Given the description of an element on the screen output the (x, y) to click on. 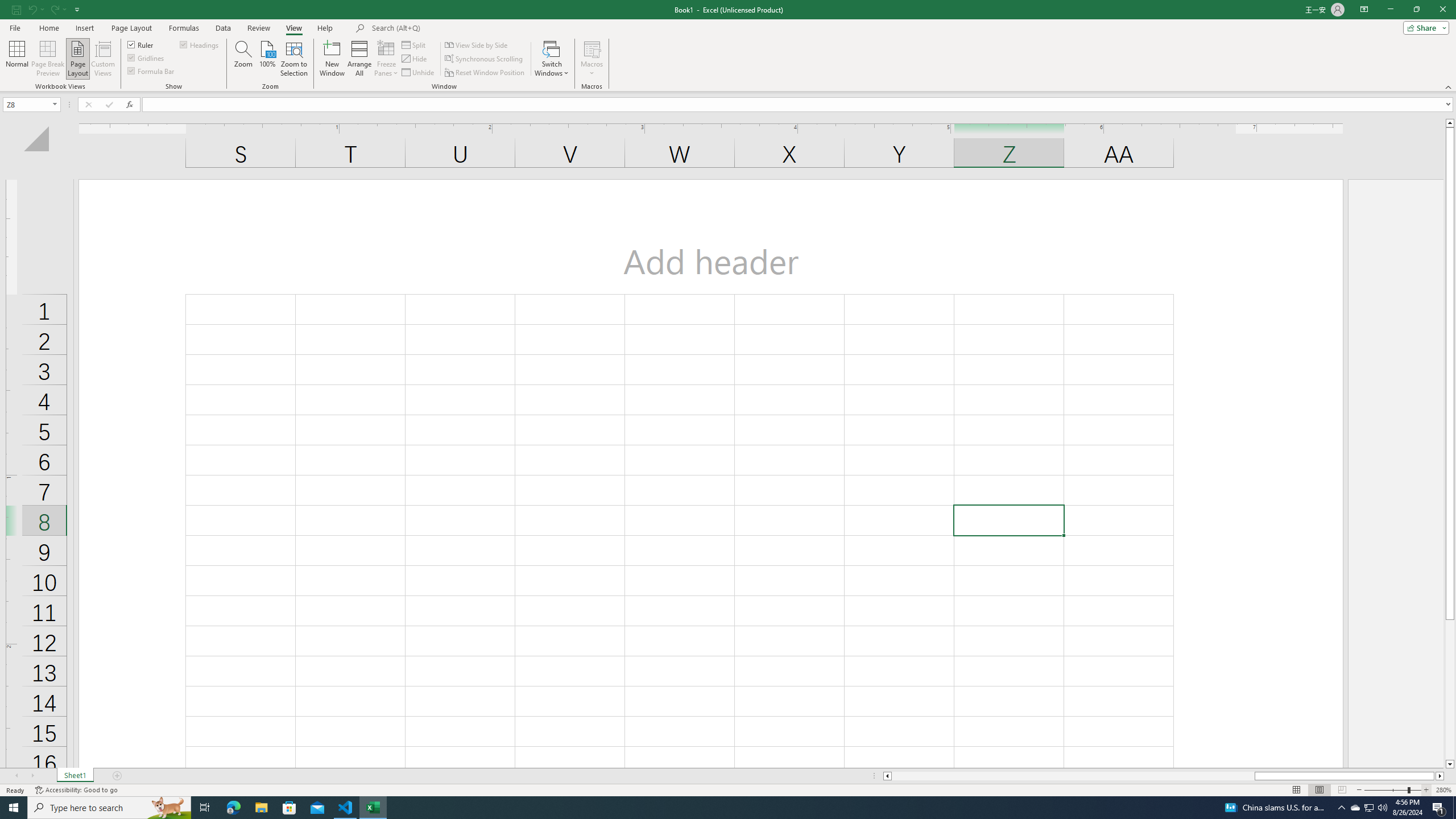
Headings (199, 44)
Synchronous Scrolling (484, 58)
Custom Views... (103, 58)
